Given the description of an element on the screen output the (x, y) to click on. 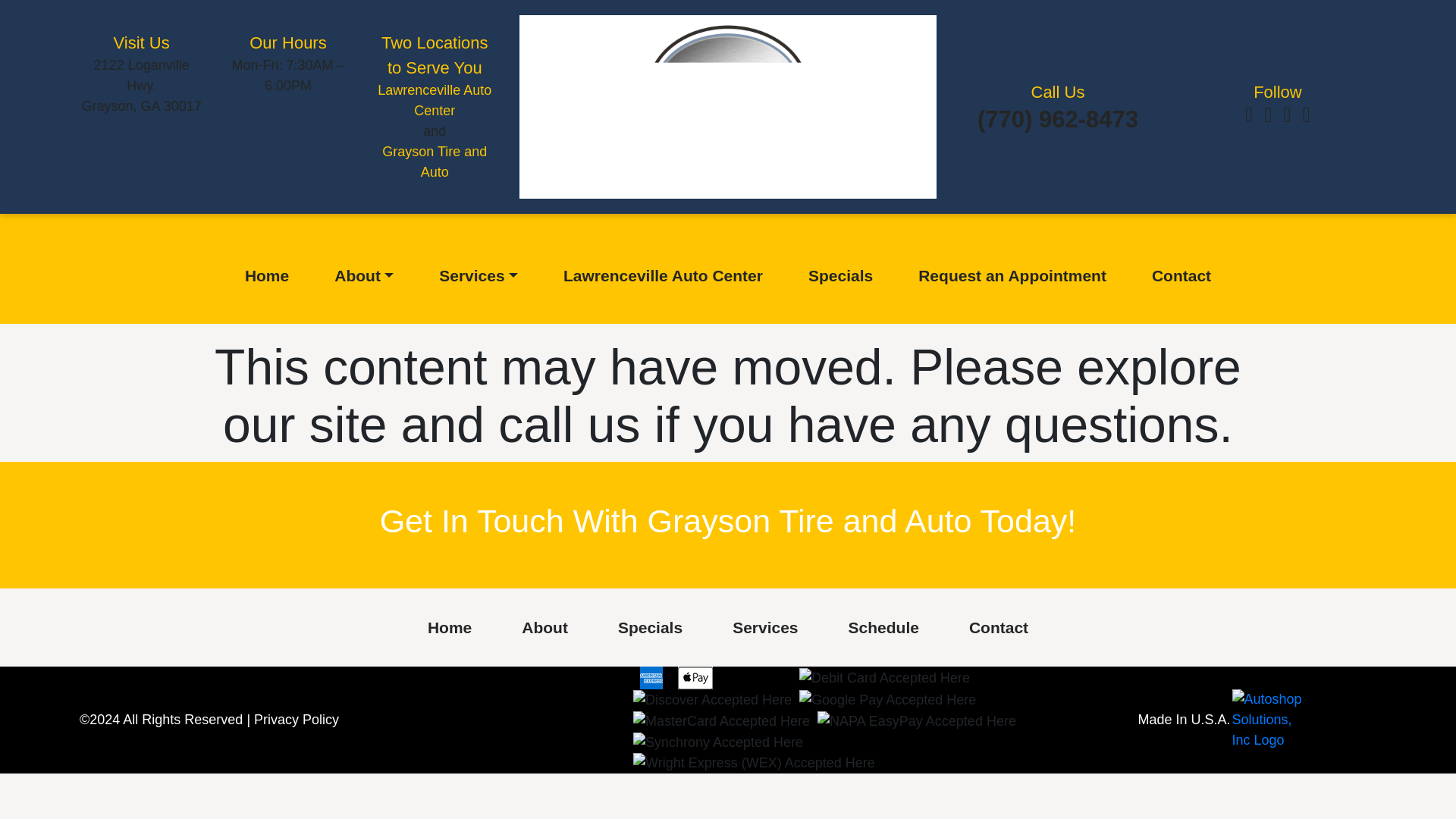
Specials (141, 85)
Lawrenceville Auto Center (840, 275)
Lawrenceville Auto Center (434, 99)
About (663, 275)
Request an Appointment (363, 275)
Home (1012, 275)
Services (449, 627)
Home (478, 275)
Grayson Tire and Auto (266, 275)
Contact (433, 161)
